Given the description of an element on the screen output the (x, y) to click on. 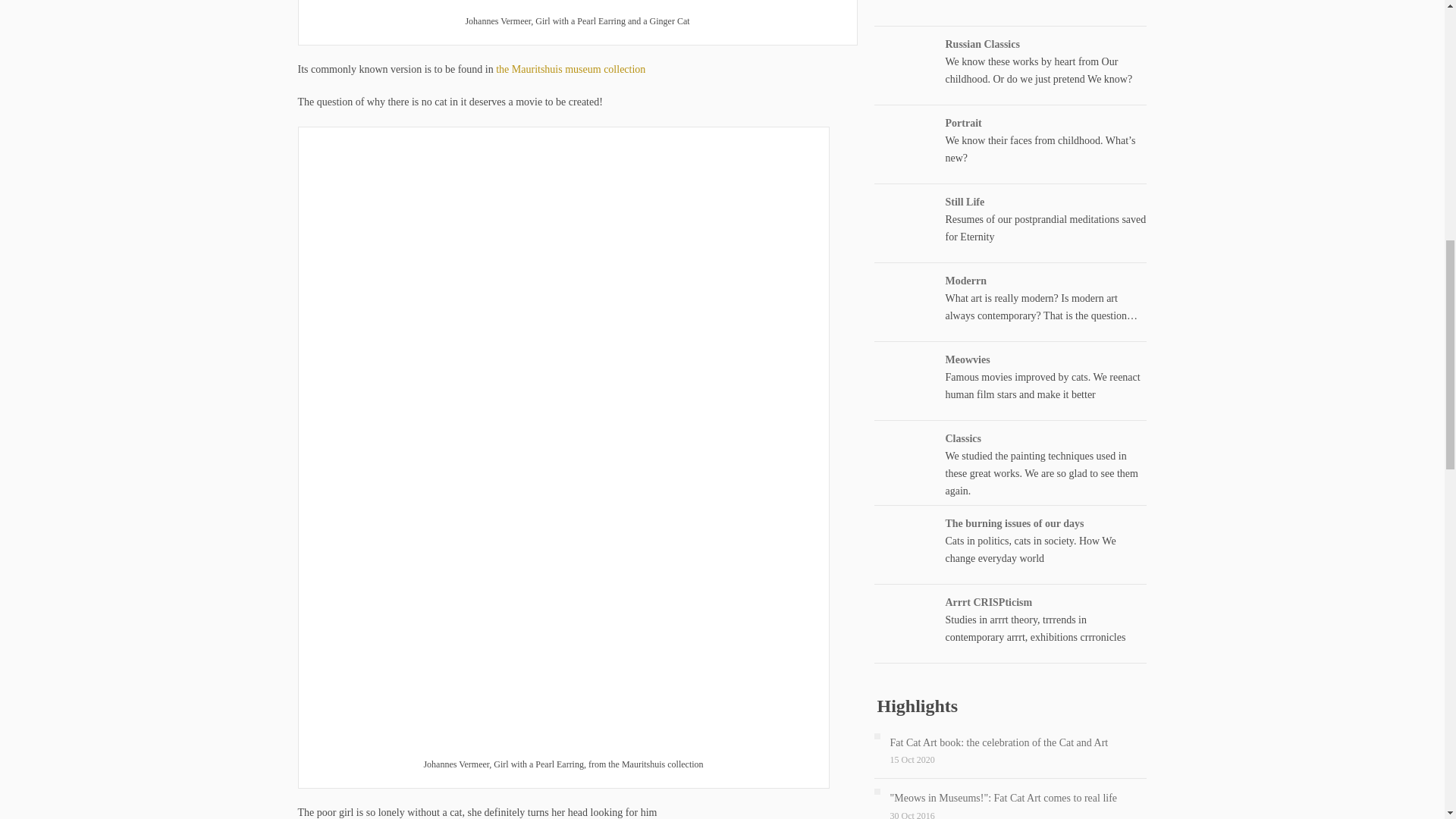
Russian Classics (981, 43)
View all posts filed under The burning issues of our days (1013, 523)
Classics (961, 437)
The burning issues of our days (1013, 523)
View all posts filed under Portrait (962, 122)
Portrait (962, 122)
View all posts filed under Moderrn (964, 279)
Still Life (964, 201)
View all posts filed under Arrrt CRISPticism (988, 602)
Meowvies (967, 358)
View all posts filed under Meowvies (967, 358)
Moderrn (964, 279)
View all posts filed under Classics (961, 437)
View all posts filed under Russian Classics (981, 43)
View all posts filed under Still Life (964, 201)
